Given the description of an element on the screen output the (x, y) to click on. 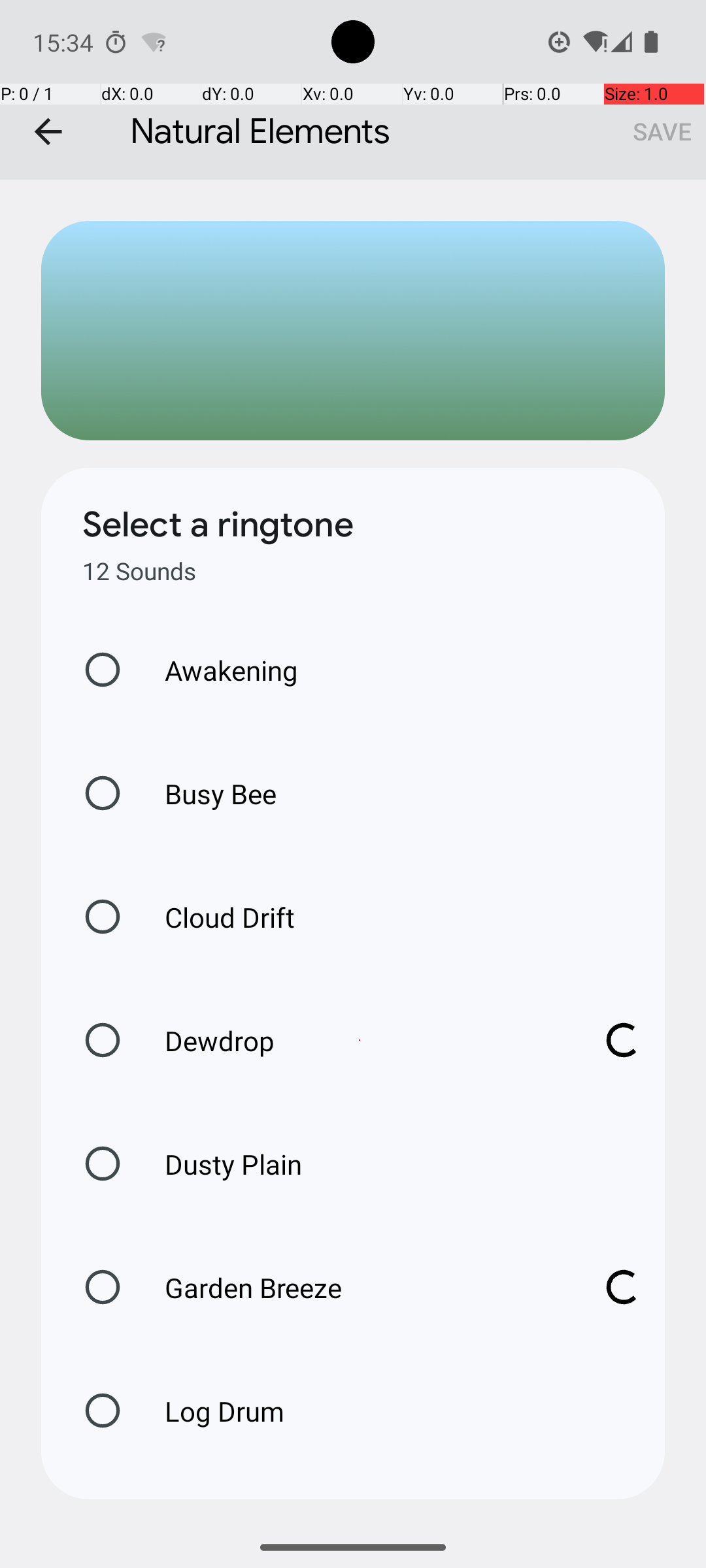
Awakening Element type: android.widget.TextView (217, 669)
Busy Bee Element type: android.widget.TextView (206, 793)
Cloud Drift Element type: android.widget.TextView (215, 916)
Dewdrop Element type: android.widget.TextView (359, 1040)
Dusty Plain Element type: android.widget.TextView (219, 1163)
Garden Breeze Element type: android.widget.TextView (359, 1287)
Log Drum Element type: android.widget.TextView (210, 1410)
